Given the description of an element on the screen output the (x, y) to click on. 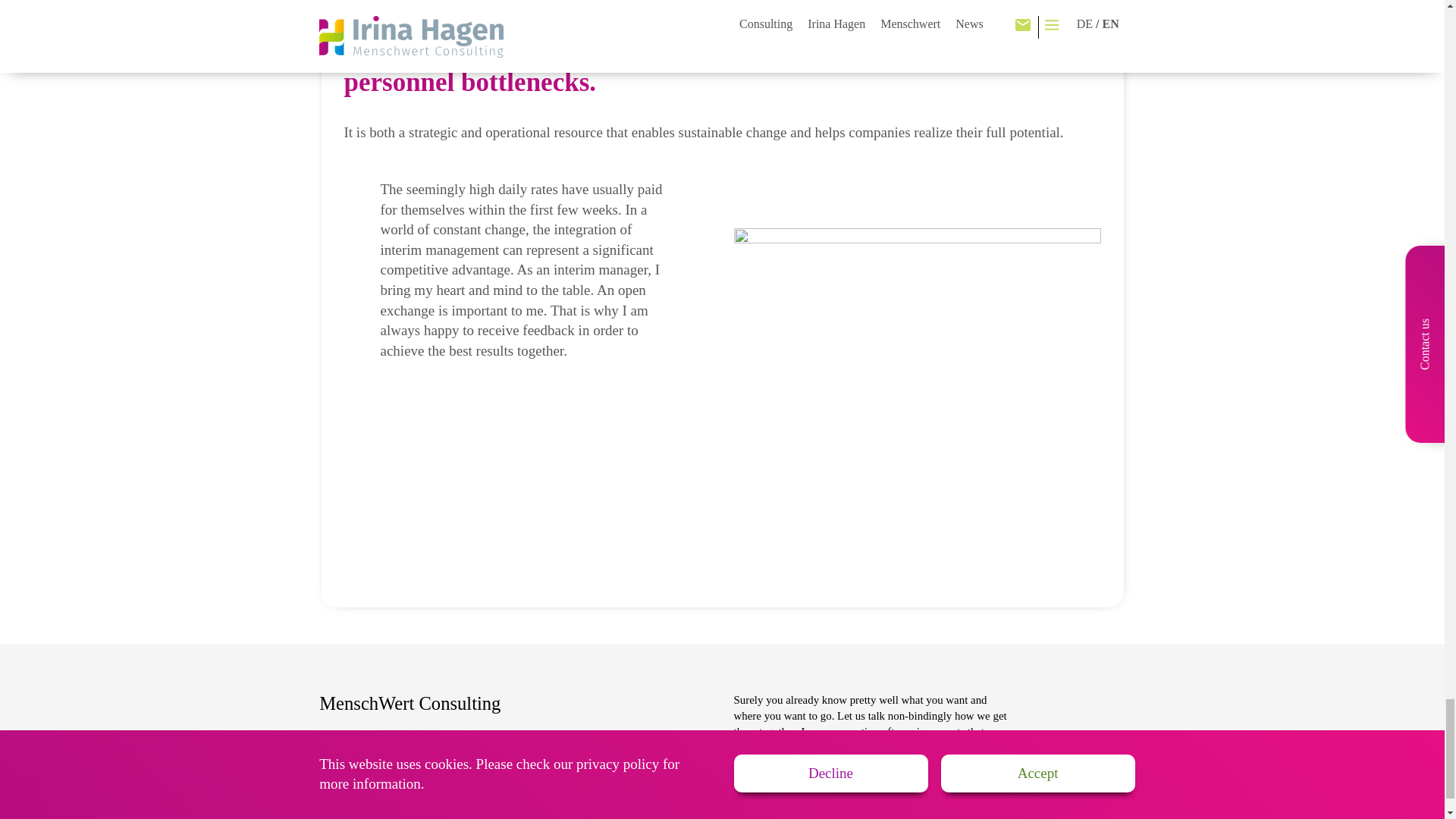
News (543, 754)
Irina Hagen (345, 754)
Menschwert (346, 773)
Contact us (554, 736)
